Given the description of an element on the screen output the (x, y) to click on. 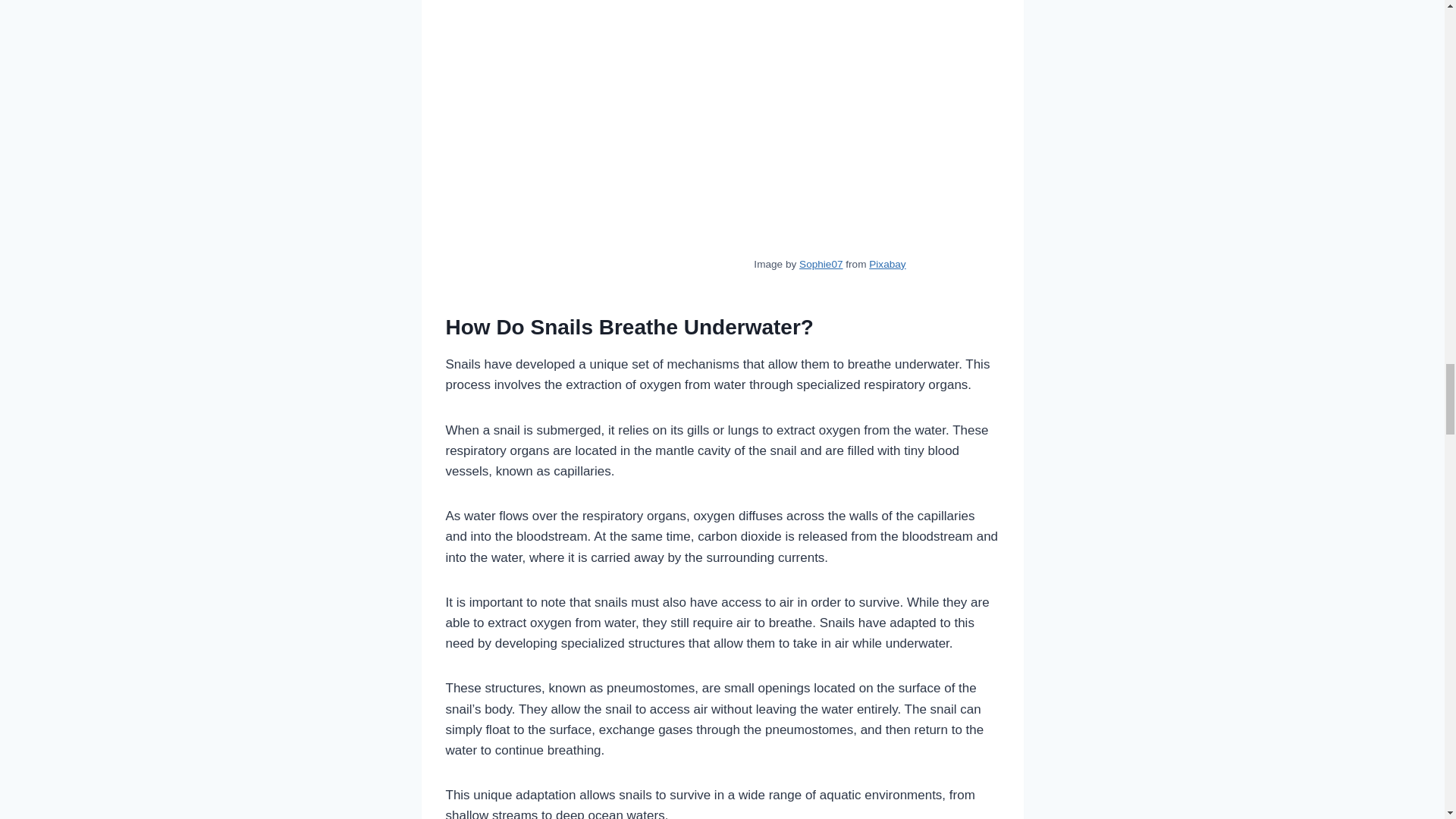
Pixabay (887, 264)
Sophie07 (821, 264)
